Given the description of an element on the screen output the (x, y) to click on. 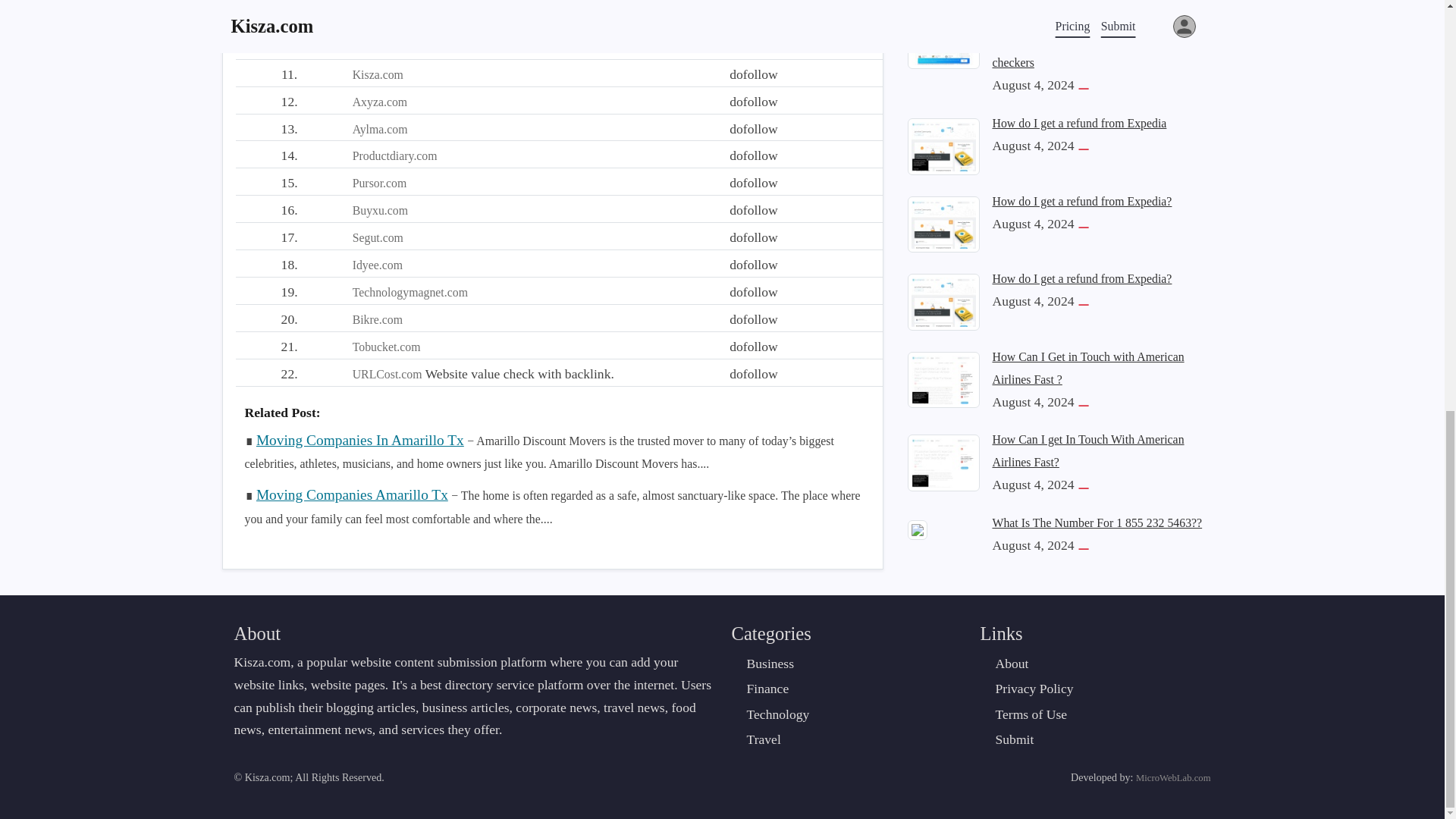
Xamly.com (379, 19)
Productdiary.com (395, 155)
Technologymagnet.com (409, 291)
Xokki.com (379, 47)
Axyza.com (379, 101)
Pursor.com (379, 182)
Segut.com (377, 237)
Aylma.com (379, 128)
Moving Companies In Amarillo Tx (360, 439)
Buyxu.com (379, 210)
